Given the description of an element on the screen output the (x, y) to click on. 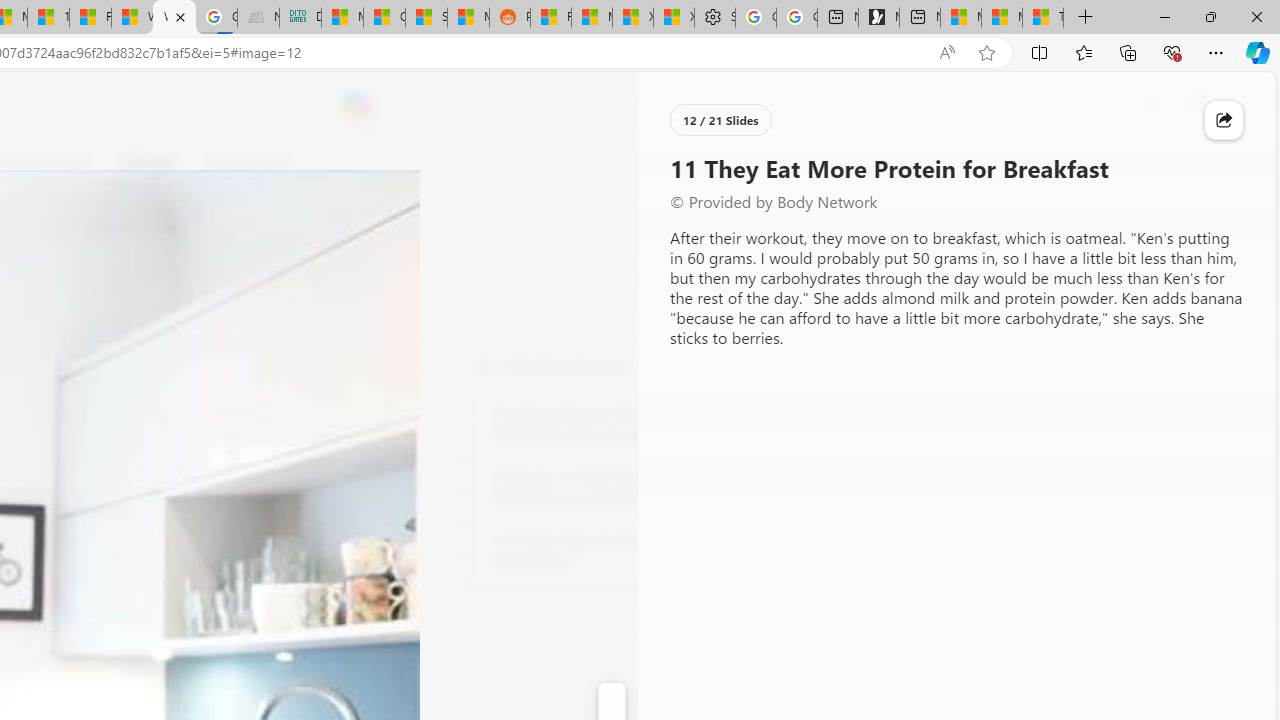
12 Proven Ways To Increase Your Metabolism (603, 550)
Body Network (486, 364)
8 Reasons to Drink Kombucha, According to a Nutritionist (603, 488)
